Given the description of an element on the screen output the (x, y) to click on. 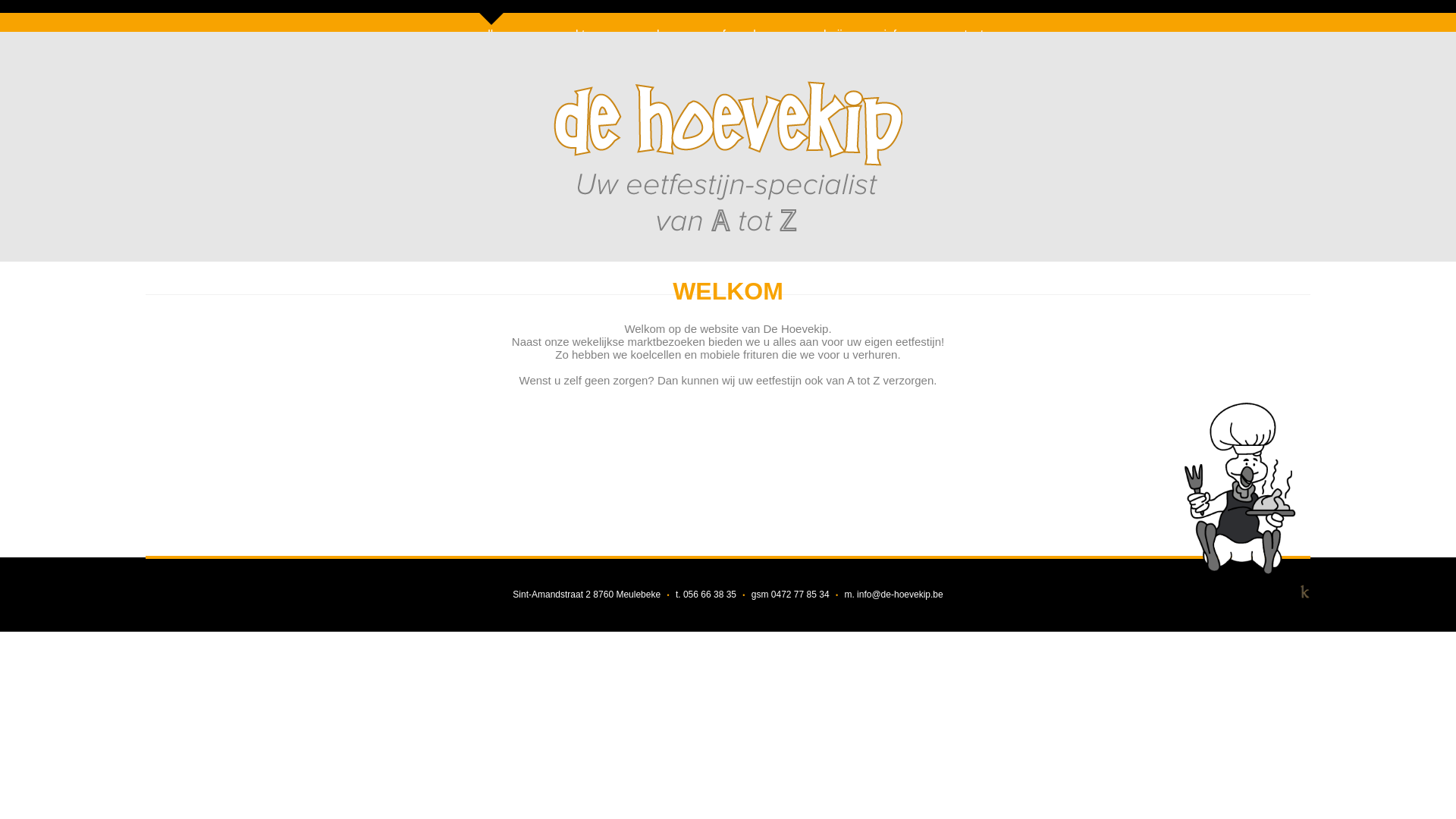
info@de-hoevekip.be Element type: text (899, 594)
info Element type: text (892, 26)
formules Element type: text (744, 26)
verhuur Element type: text (660, 26)
welkom Element type: text (492, 26)
contact Element type: text (964, 26)
galerij Element type: text (826, 26)
markten Element type: text (576, 26)
